Given the description of an element on the screen output the (x, y) to click on. 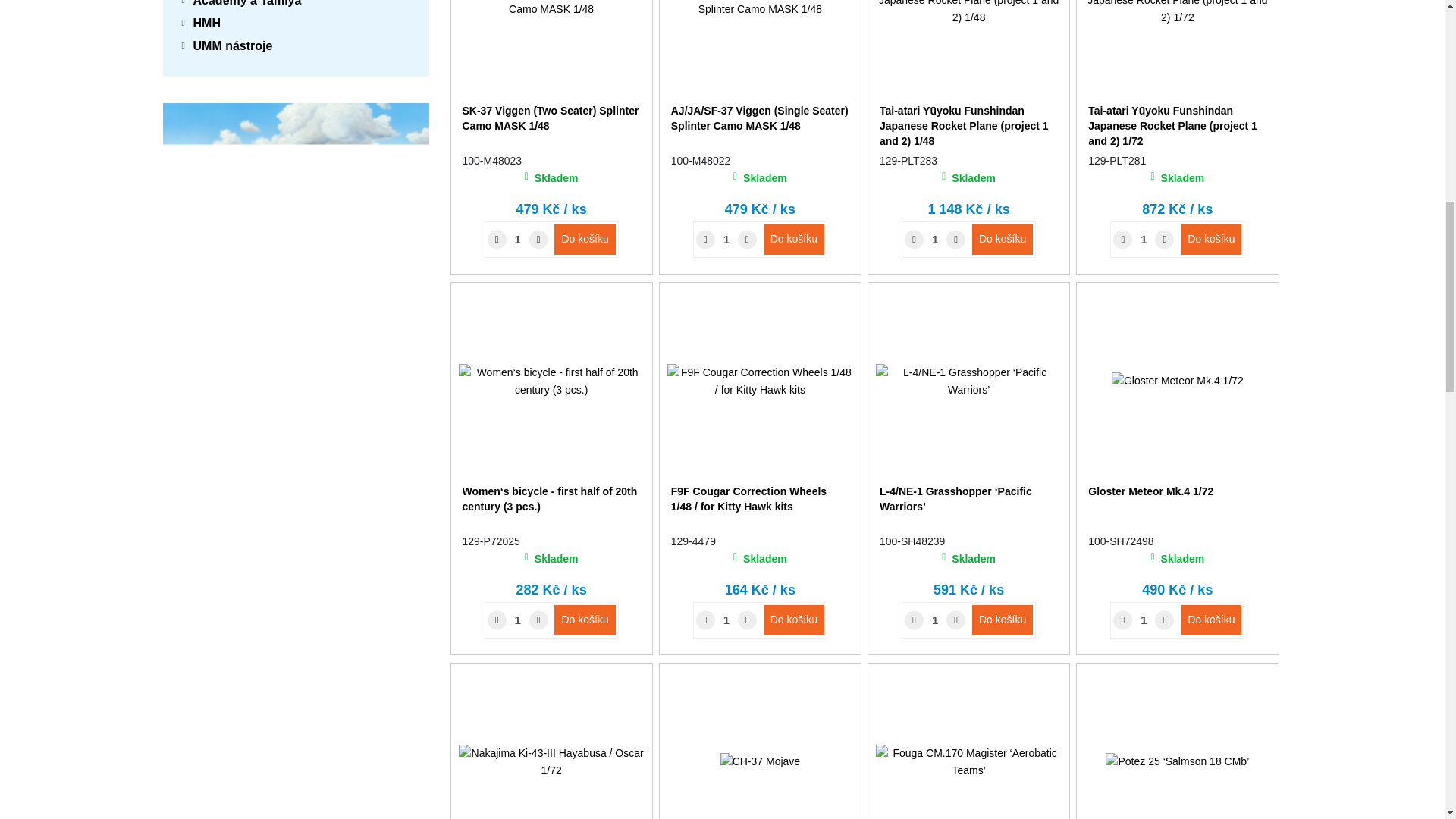
1 (726, 620)
1 (726, 239)
1 (934, 239)
1 (934, 620)
1 (1143, 620)
1 (517, 620)
1 (1143, 239)
1 (517, 239)
